Given the description of an element on the screen output the (x, y) to click on. 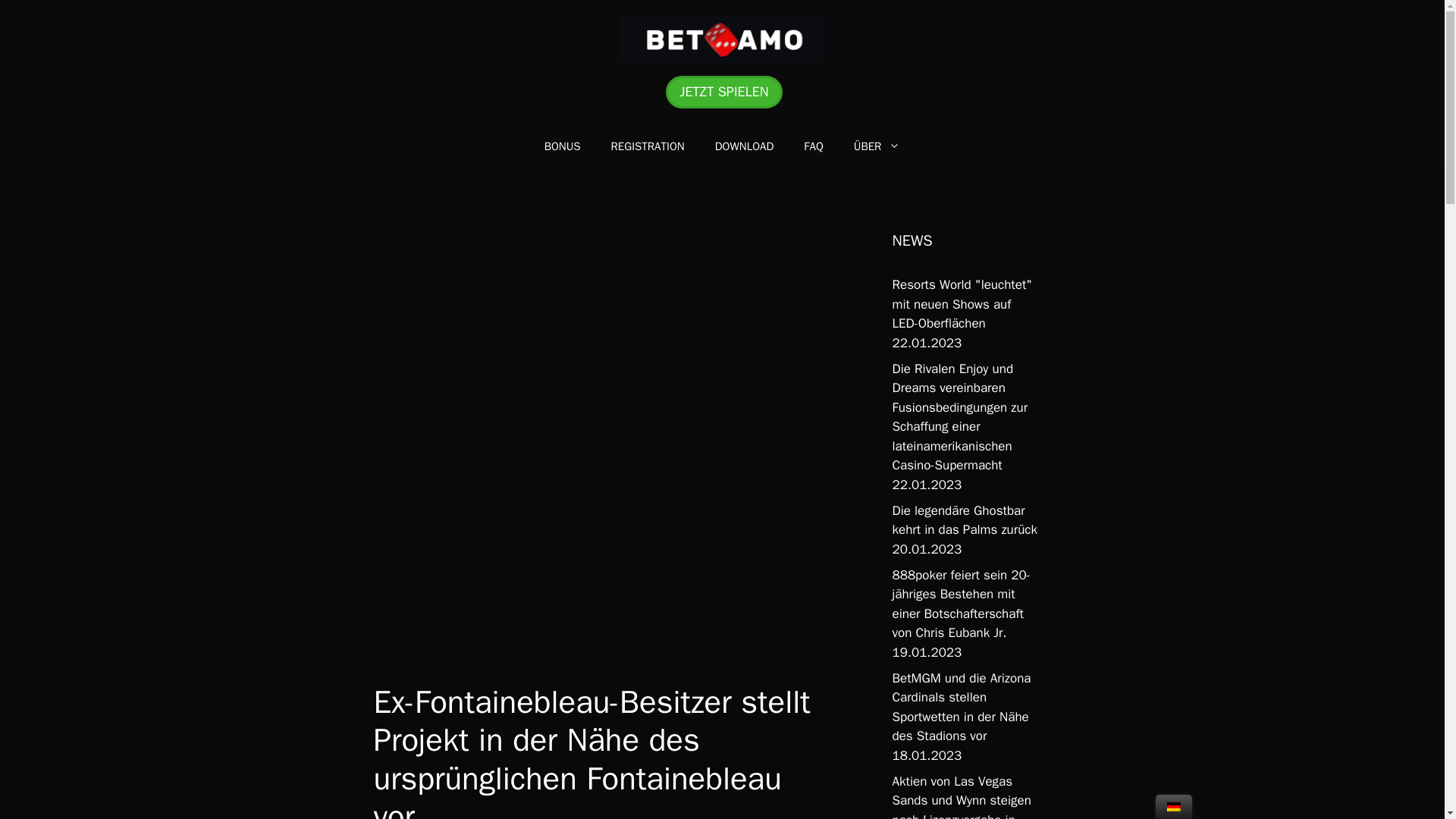
JETZT SPIELEN (723, 92)
Betamo Kasino (722, 37)
German (1173, 806)
FAQ (813, 145)
REGISTRATION (647, 145)
DOWNLOAD (744, 145)
Betamo Kasino (722, 39)
BONUS (562, 145)
